Given the description of an element on the screen output the (x, y) to click on. 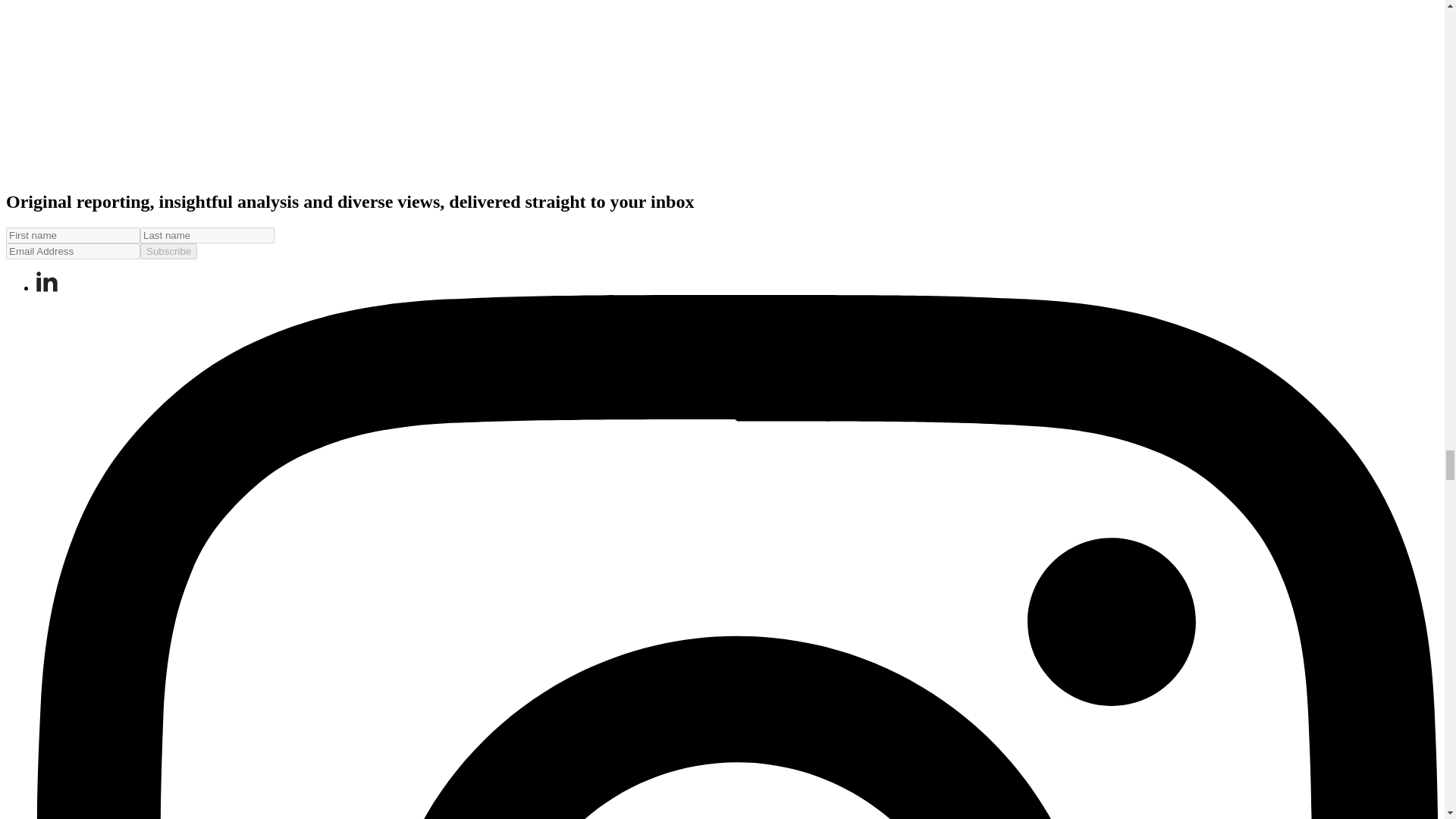
LinkedIn (47, 281)
